Given the description of an element on the screen output the (x, y) to click on. 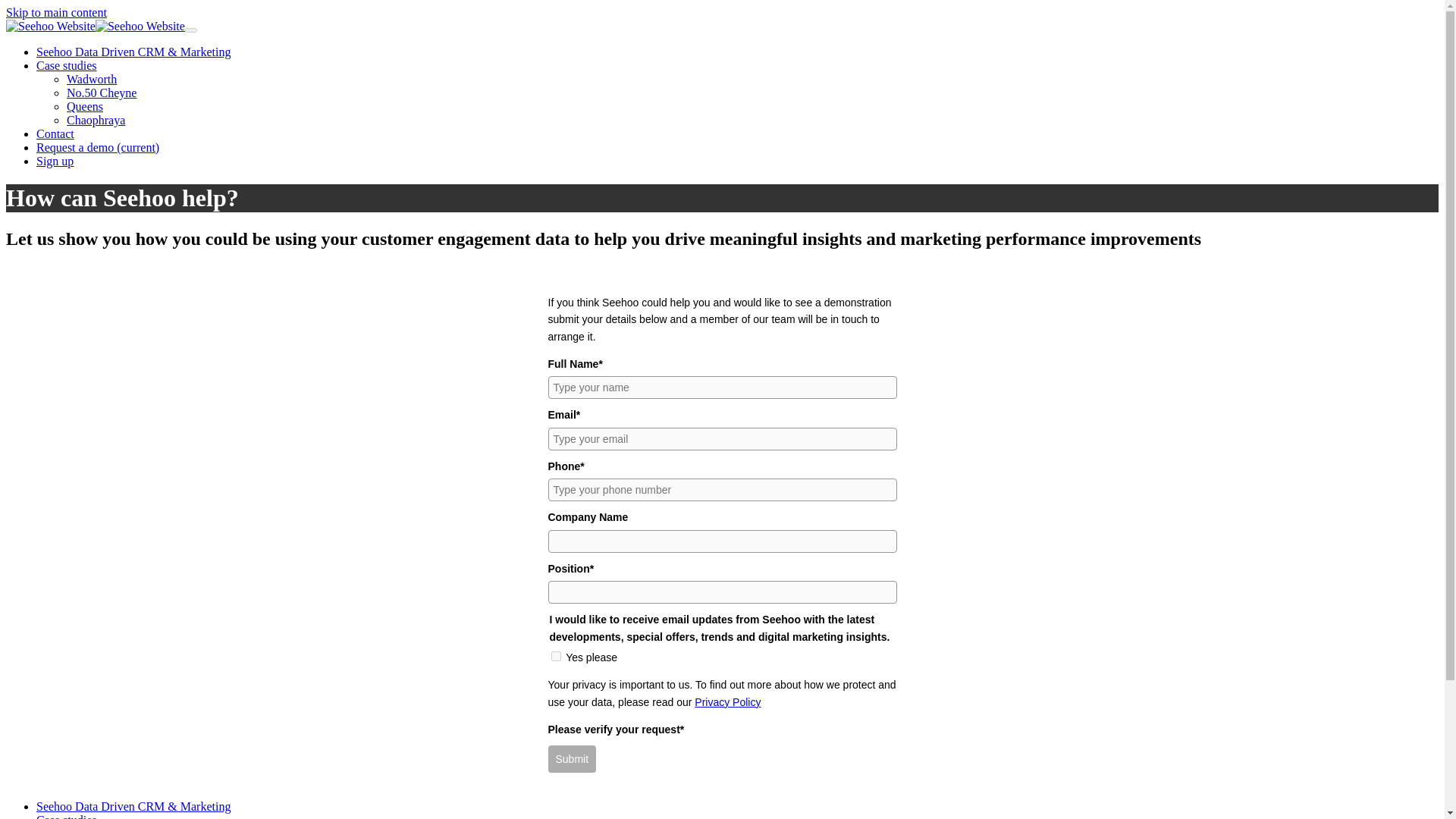
Request a demo (97, 146)
Wadworth (91, 78)
Case studies (66, 65)
Contact (55, 133)
No.50 Cheyne (101, 92)
No.50 Cheyne (101, 92)
Queens (84, 106)
Wadworth (91, 78)
Seehoo Website (94, 25)
Case studies (66, 816)
